Given the description of an element on the screen output the (x, y) to click on. 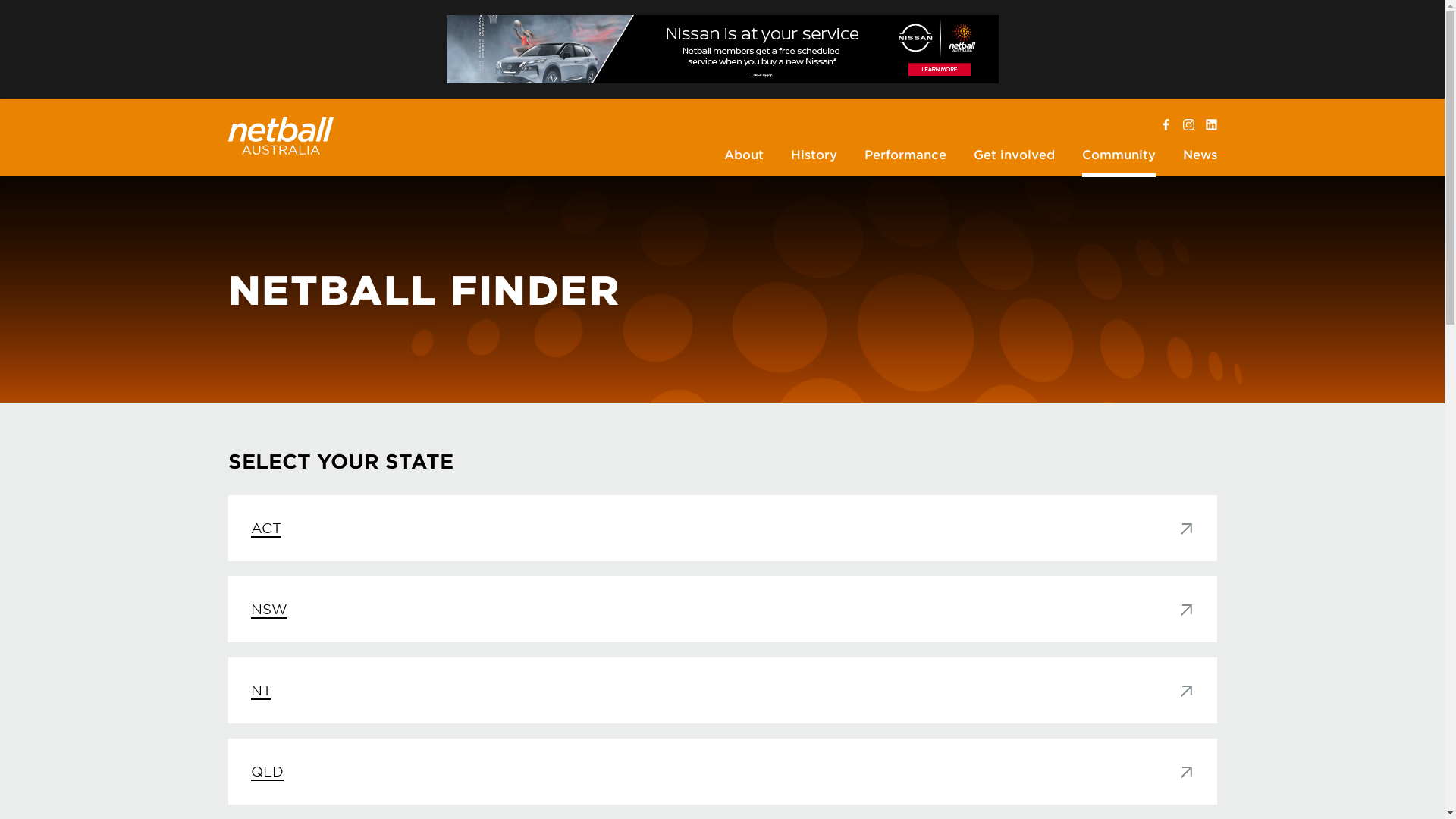
Netball Australia Facebook Element type: hover (1165, 124)
ACT Element type: text (721, 528)
Netball Australia on LinkedIn Element type: hover (1211, 124)
3rd party ad content Element type: hover (721, 49)
NT Element type: text (721, 690)
History Element type: text (813, 156)
QLD Element type: text (721, 771)
Performance Element type: text (904, 156)
Get involved Element type: text (1013, 156)
News Element type: text (1198, 156)
NSW Element type: text (721, 609)
Community Element type: text (1118, 156)
@netballaust Element type: hover (1188, 124)
About Element type: text (743, 156)
